Given the description of an element on the screen output the (x, y) to click on. 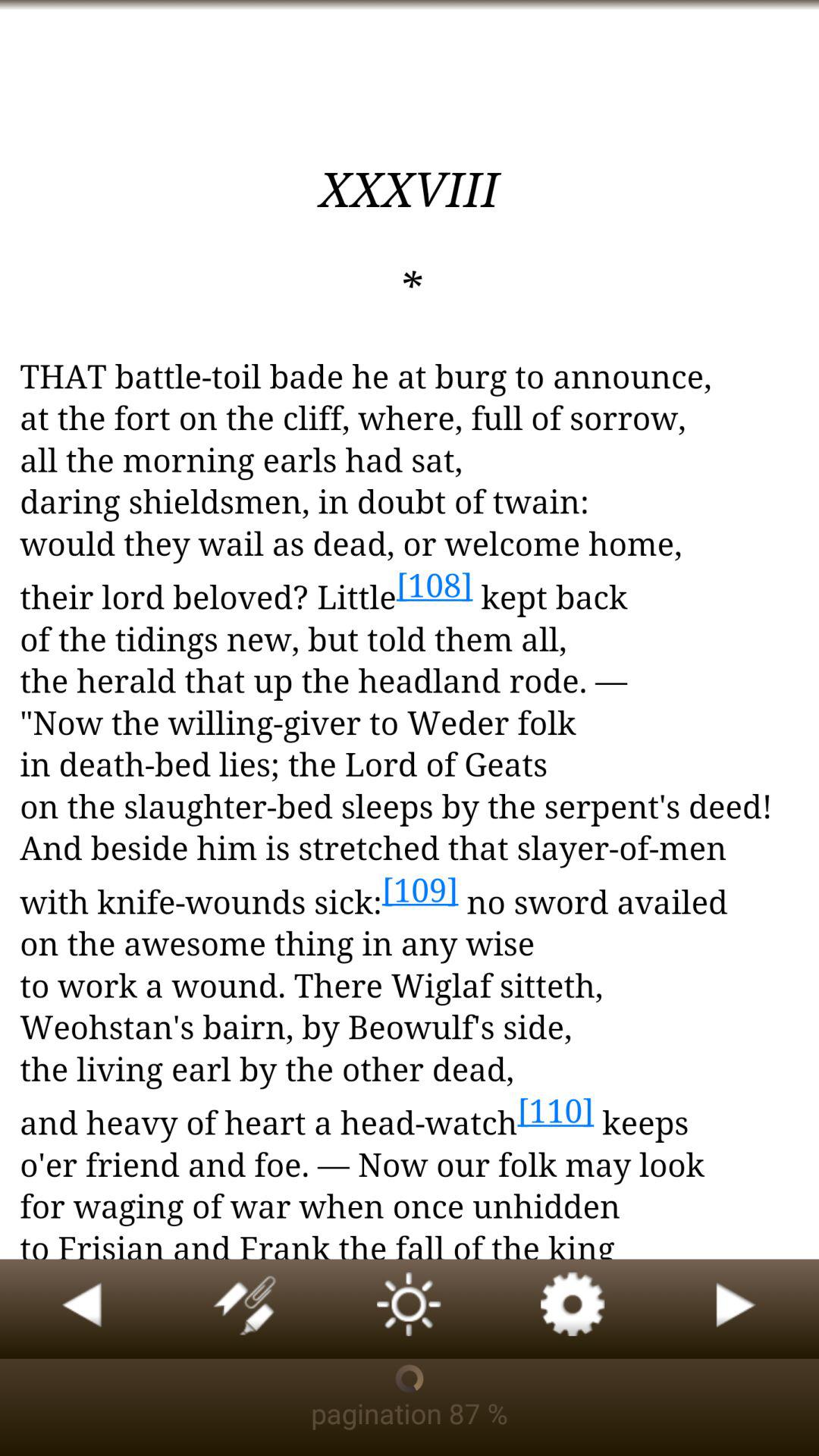
next (737, 1308)
